Given the description of an element on the screen output the (x, y) to click on. 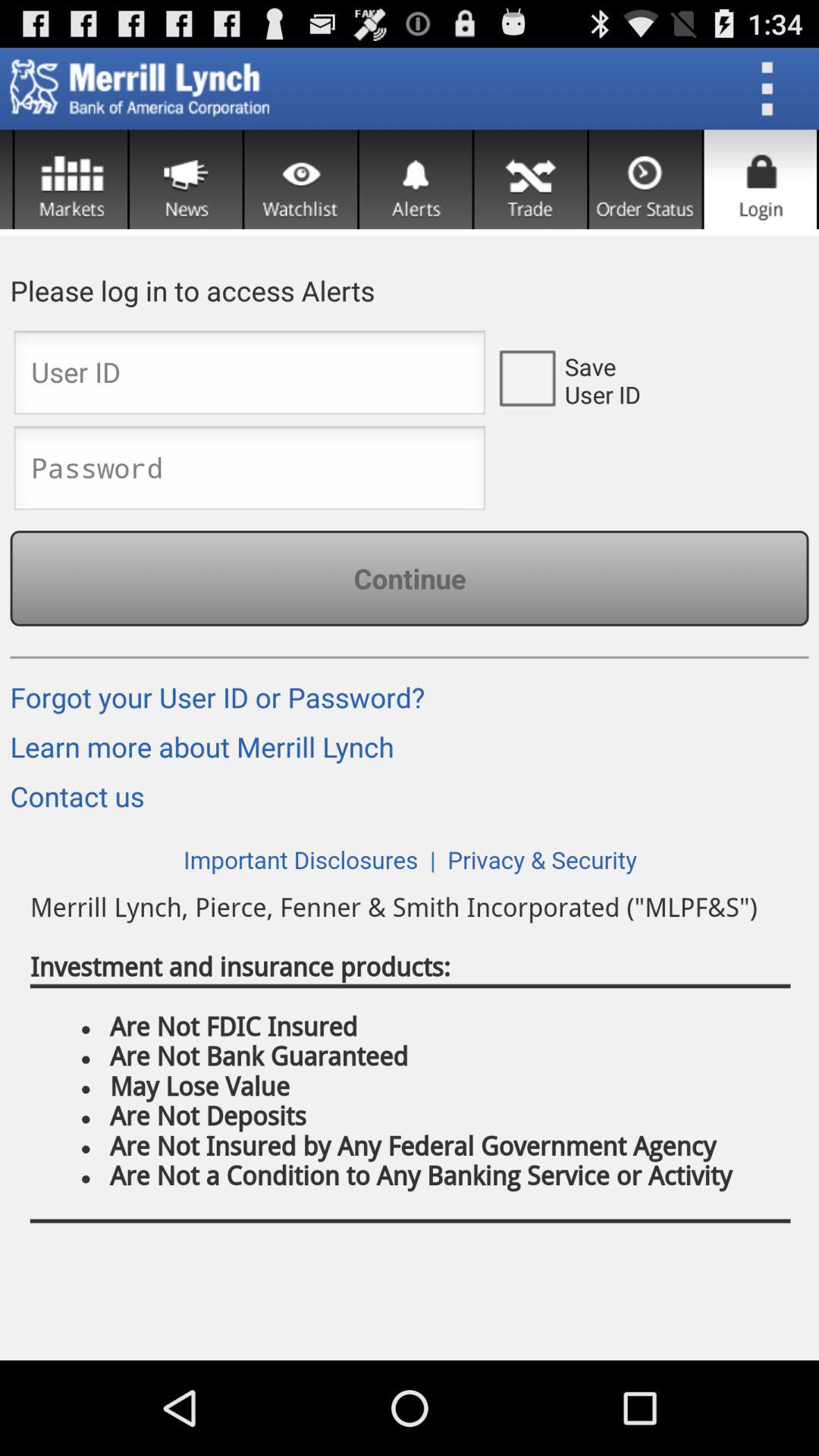
markets tab (70, 179)
